Given the description of an element on the screen output the (x, y) to click on. 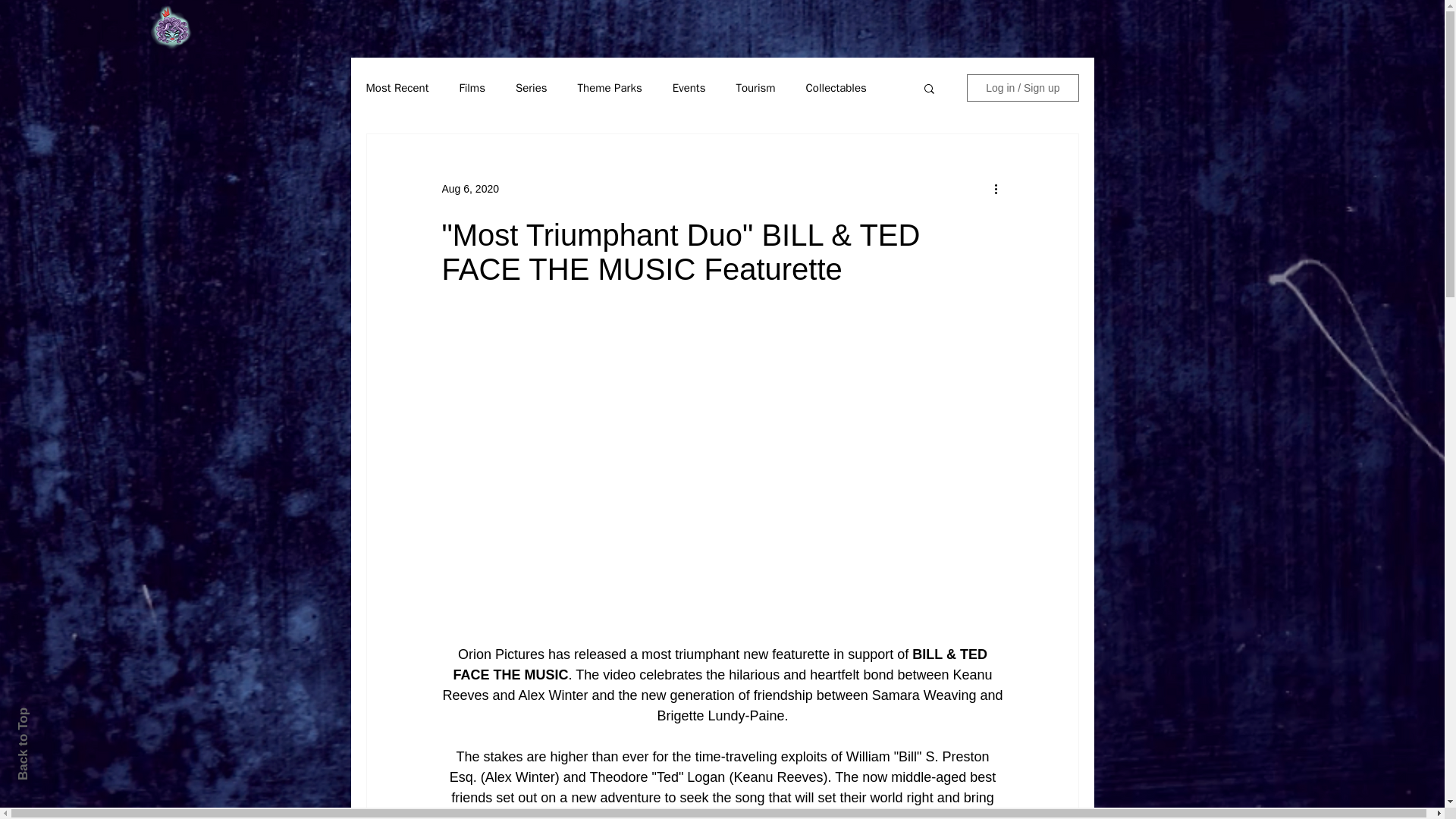
Events (689, 87)
Films (471, 87)
Collectables (836, 87)
Tourism (754, 87)
Aug 6, 2020 (470, 187)
Theme Parks (610, 87)
Series (531, 87)
Most Recent (396, 87)
